Given the description of an element on the screen output the (x, y) to click on. 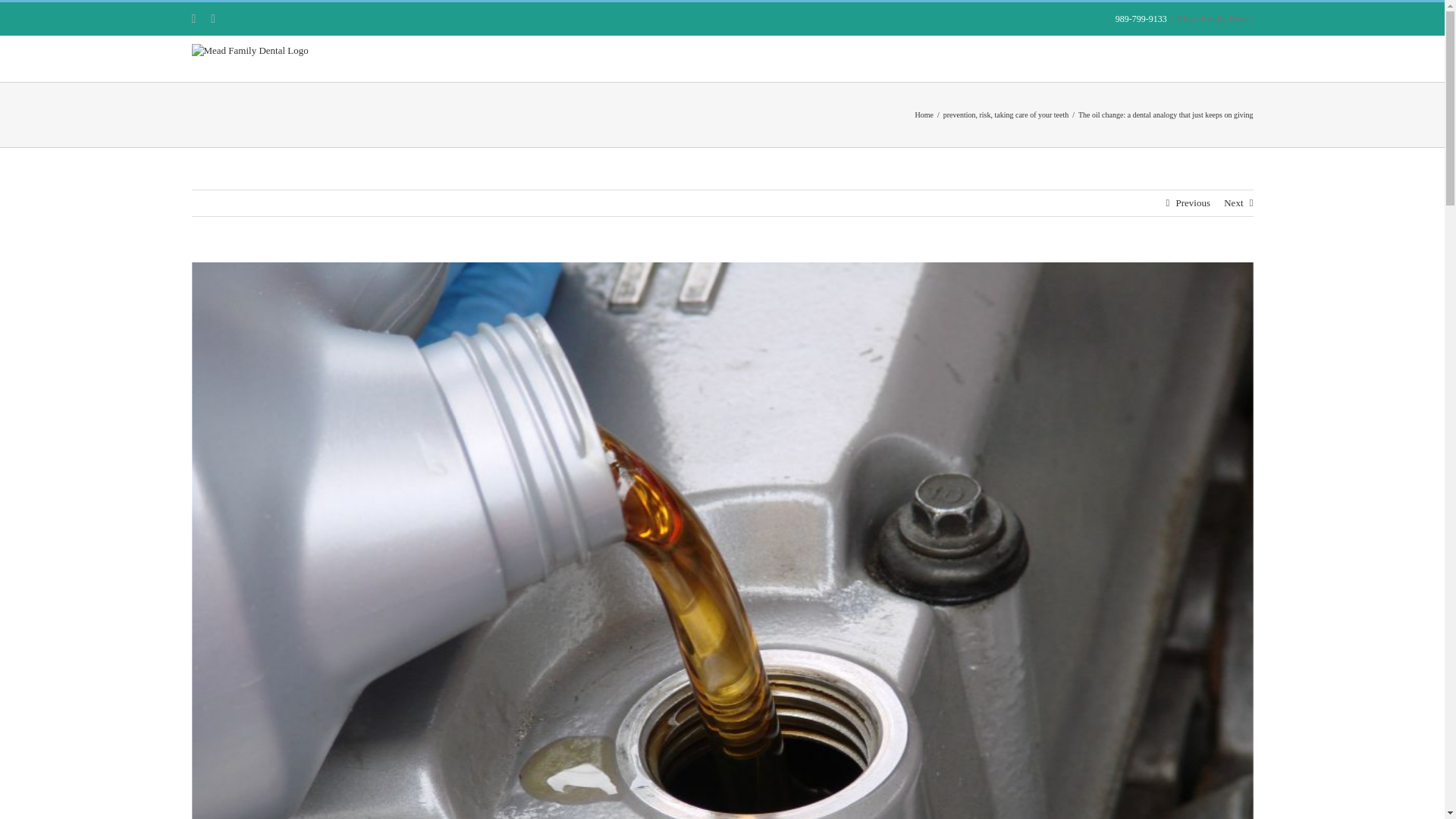
Twitter (213, 19)
Twitter (213, 19)
Facebook (192, 19)
Facebook (192, 19)
Next (1233, 203)
taking care of your teeth (1031, 114)
Home (923, 114)
Mead Family Dental (1214, 18)
prevention (959, 114)
Previous (1191, 203)
989-799-9133 (1141, 18)
risk (984, 114)
